Given the description of an element on the screen output the (x, y) to click on. 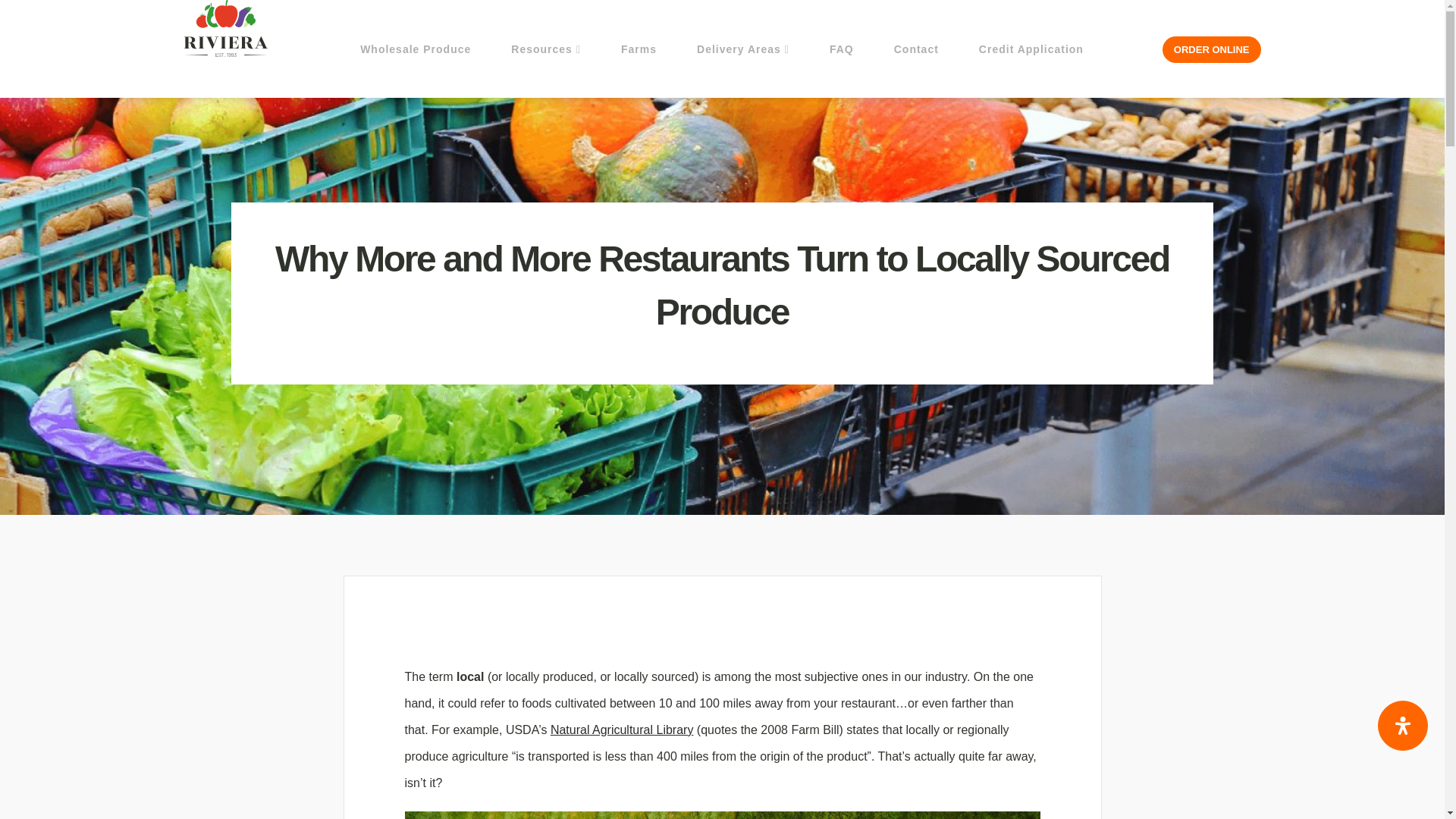
Farms (639, 48)
Delivery Areas (743, 48)
Contact (916, 48)
Accessibility (1402, 726)
Riviera Produce - Riviera (224, 28)
FAQ (841, 48)
Wholesale Produce (415, 48)
ORDER ONLINE (1210, 49)
Credit Application (1031, 48)
Resources (545, 48)
